Given the description of an element on the screen output the (x, y) to click on. 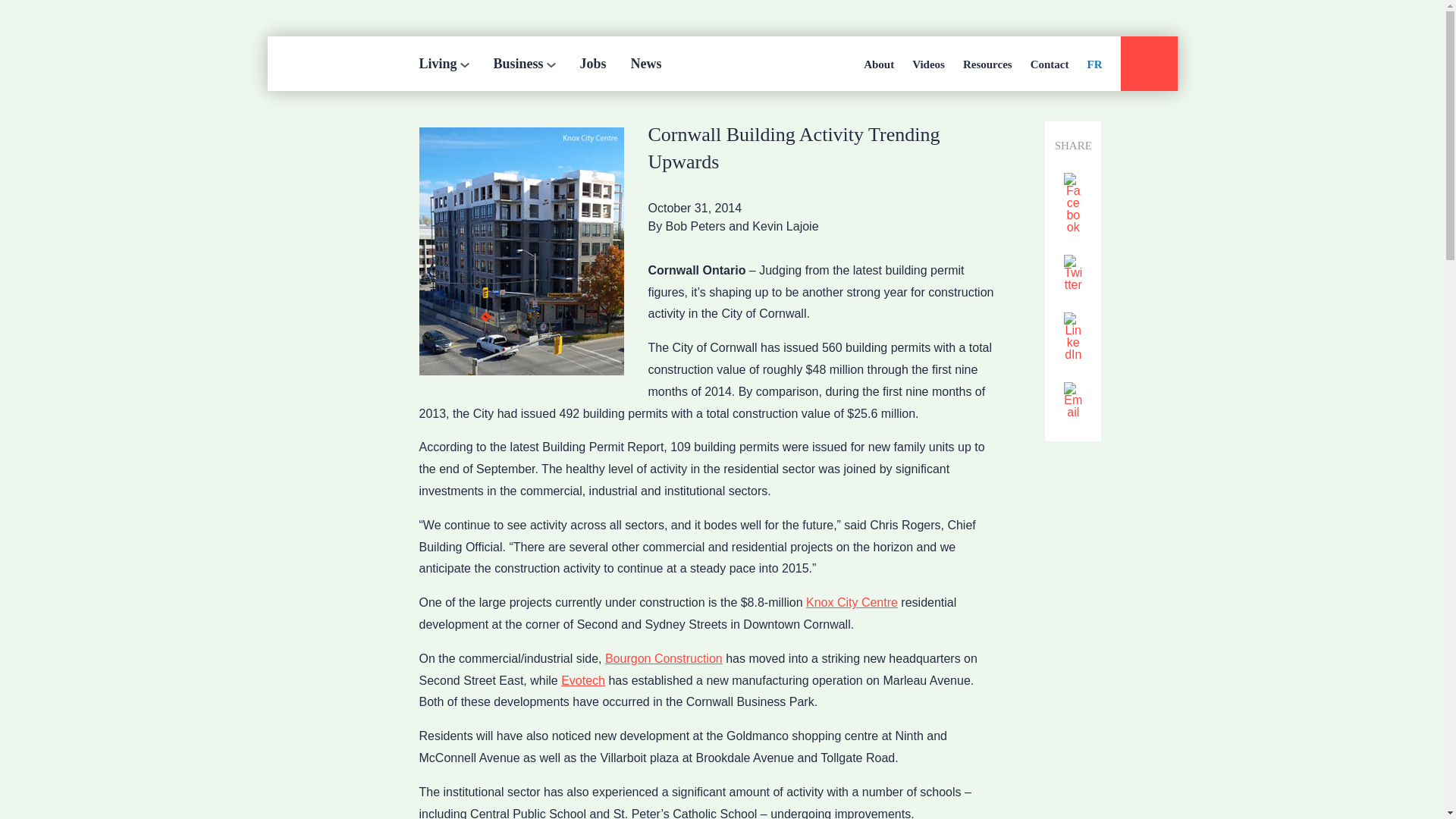
LinkedIn (1072, 337)
Twitter (1072, 273)
Facebook (1072, 203)
Living (443, 63)
Email (1072, 401)
